Given the description of an element on the screen output the (x, y) to click on. 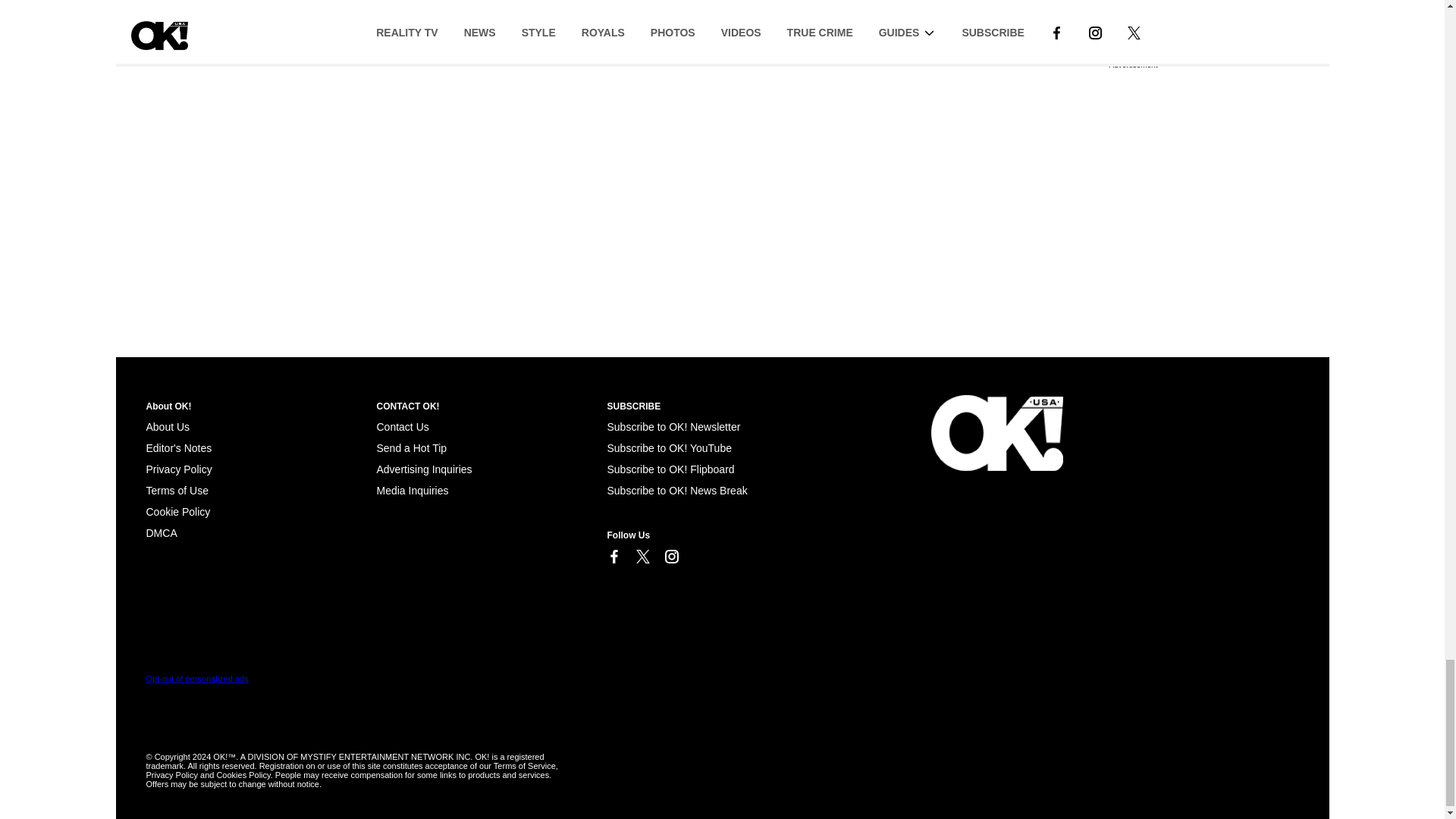
Contact Us (401, 426)
About Us (167, 426)
Privacy Policy (178, 469)
Link to Facebook (613, 556)
Terms of Use (176, 490)
Send a Hot Tip (410, 448)
Cookie Policy (160, 532)
Link to Instagram (670, 556)
Cookie Policy (177, 511)
Link to X (641, 556)
